Given the description of an element on the screen output the (x, y) to click on. 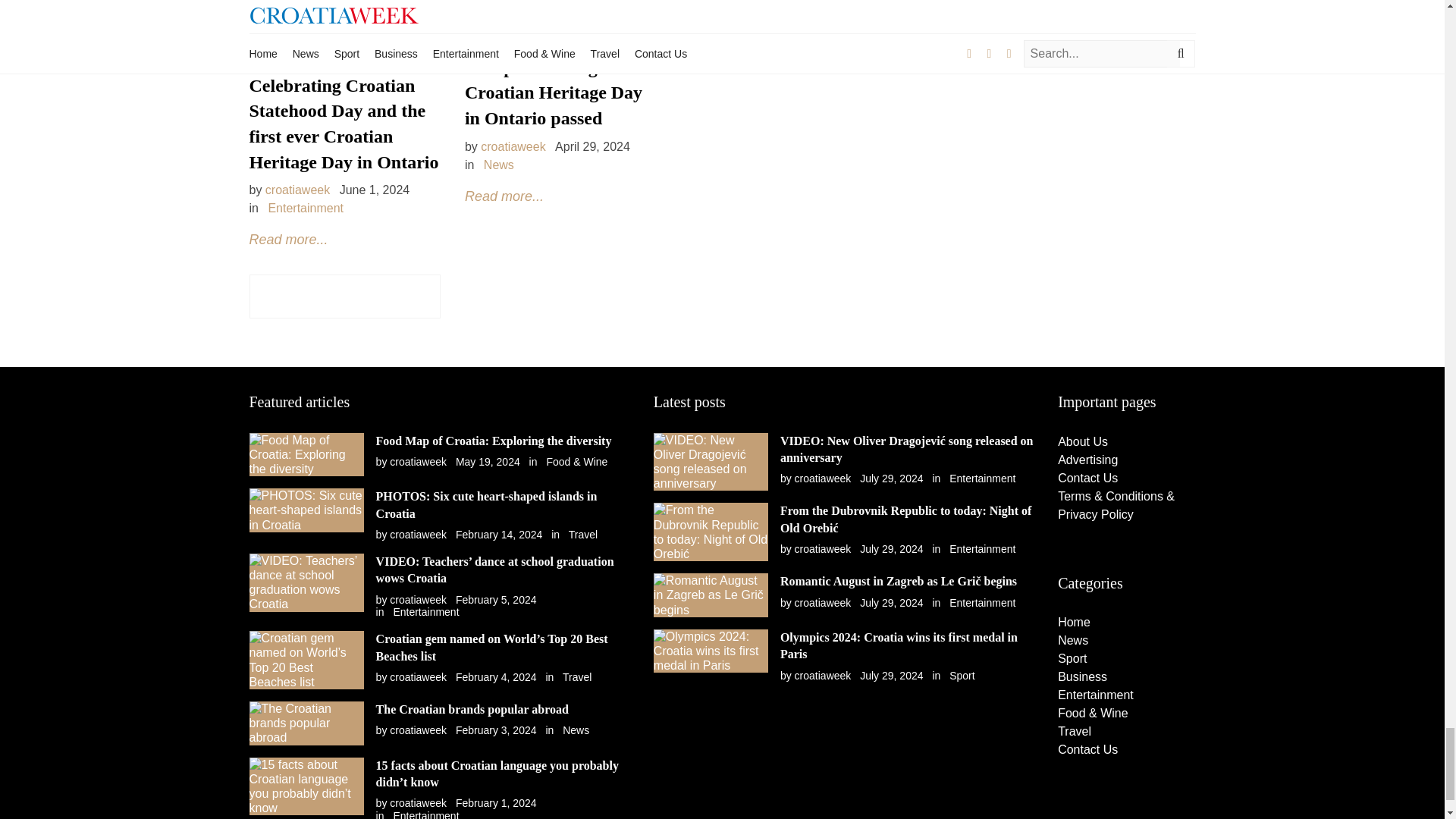
croatiaweek (512, 146)
Read more... (287, 239)
PHOTOS: Six cute heart-shaped islands in Croatia (485, 504)
Food Map of Croatia: Exploring the diversity (493, 440)
croatiaweek (418, 534)
Law proclaiming Croatian Heritage Day in Ontario passed (553, 92)
News (498, 164)
croatiaweek (297, 189)
Read more... (503, 196)
Entertainment (305, 207)
croatiaweek (418, 461)
